Given the description of an element on the screen output the (x, y) to click on. 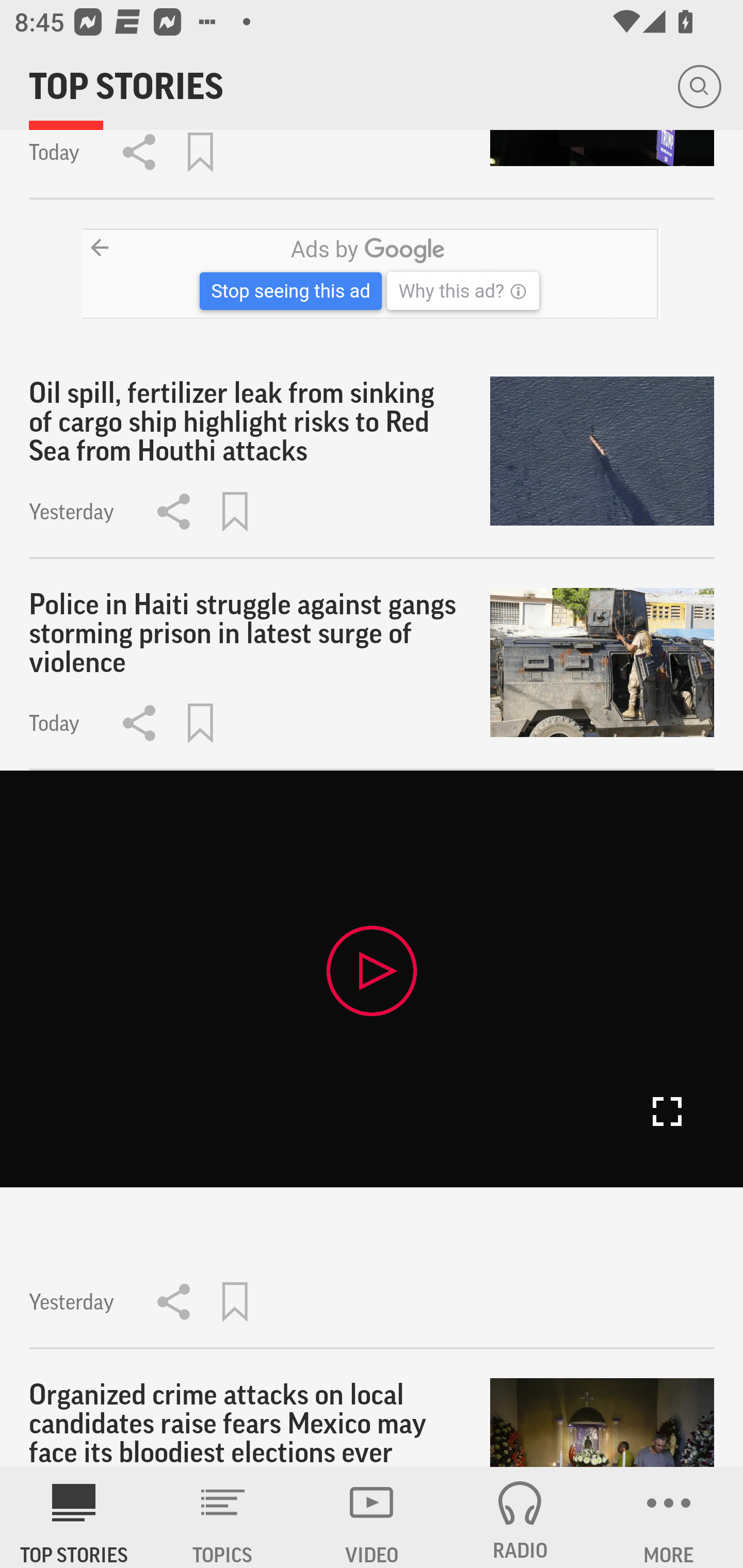
toggle controls Play Fullscreen Yesterday (371, 1059)
toggle controls Play Fullscreen (371, 977)
Play (371, 970)
Fullscreen (666, 1111)
AP News TOP STORIES (74, 1517)
TOPICS (222, 1517)
VIDEO (371, 1517)
RADIO (519, 1517)
MORE (668, 1517)
